Given the description of an element on the screen output the (x, y) to click on. 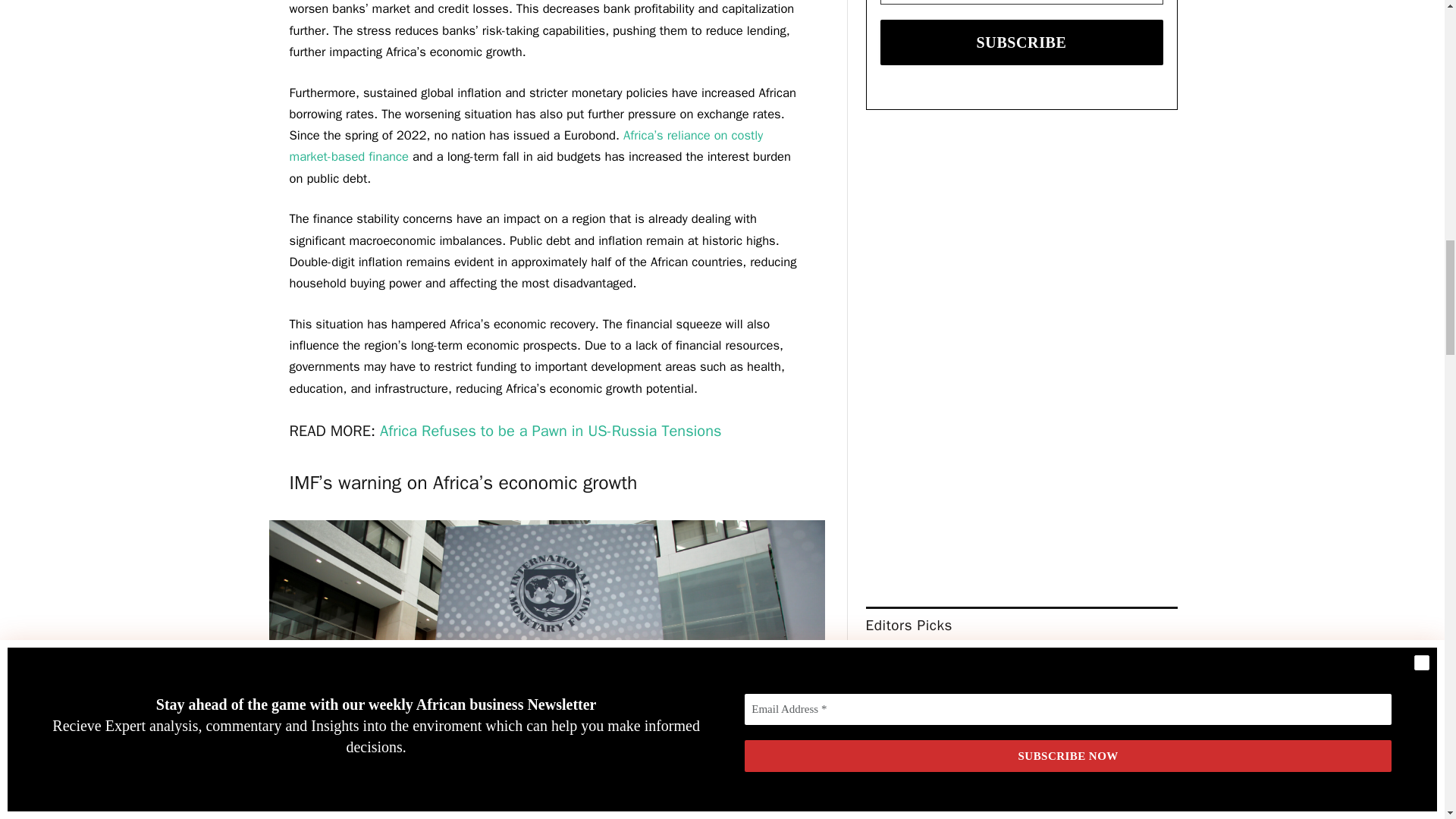
SUBSCRIBE (1021, 42)
